Given the description of an element on the screen output the (x, y) to click on. 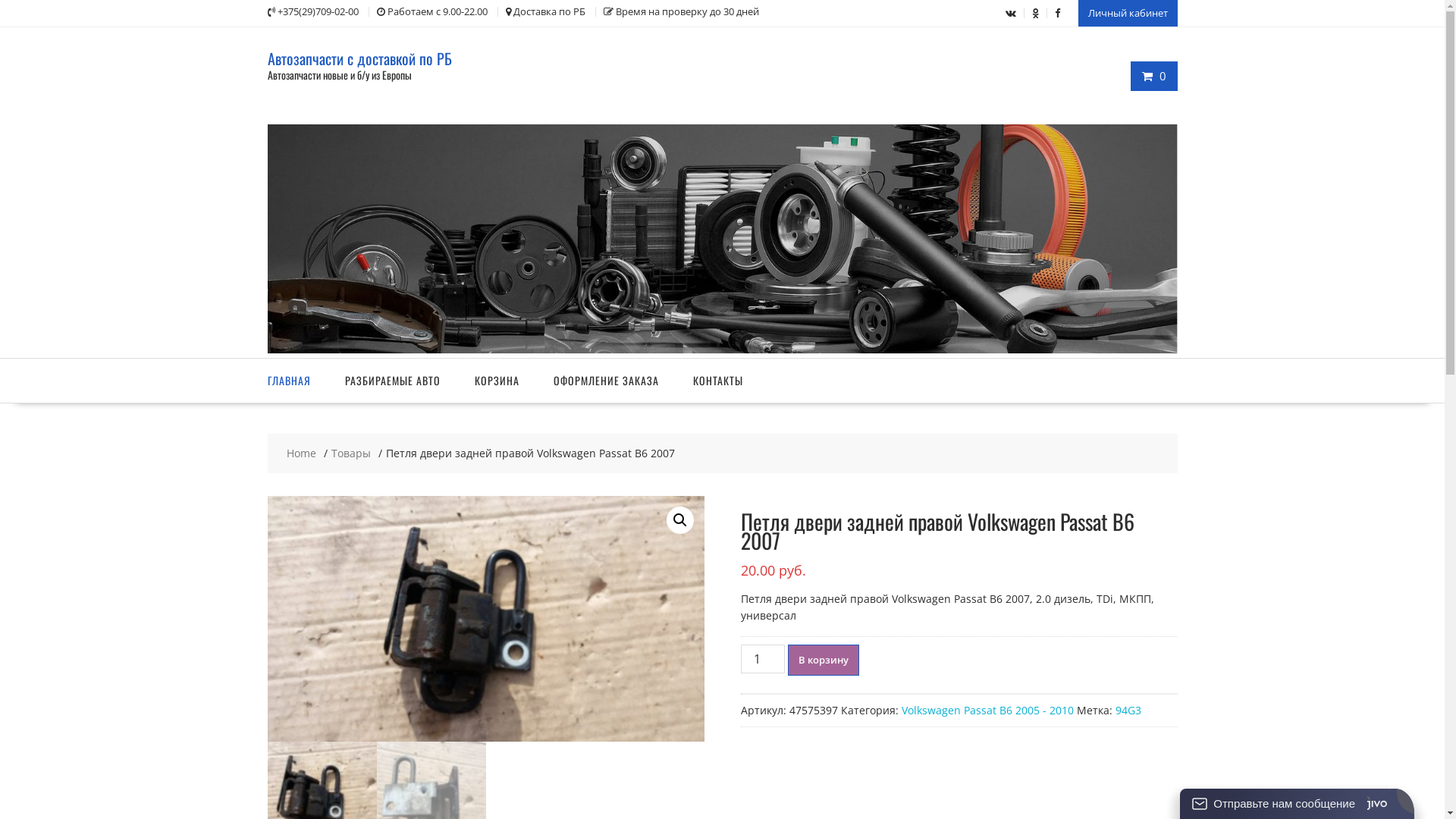
94G3 Element type: text (1127, 709)
DSC_1394 Element type: hover (484, 618)
Volkswagen Passat B6 2005 - 2010 Element type: text (986, 709)
Home Element type: text (301, 452)
0 Element type: text (1154, 75)
